Given the description of an element on the screen output the (x, y) to click on. 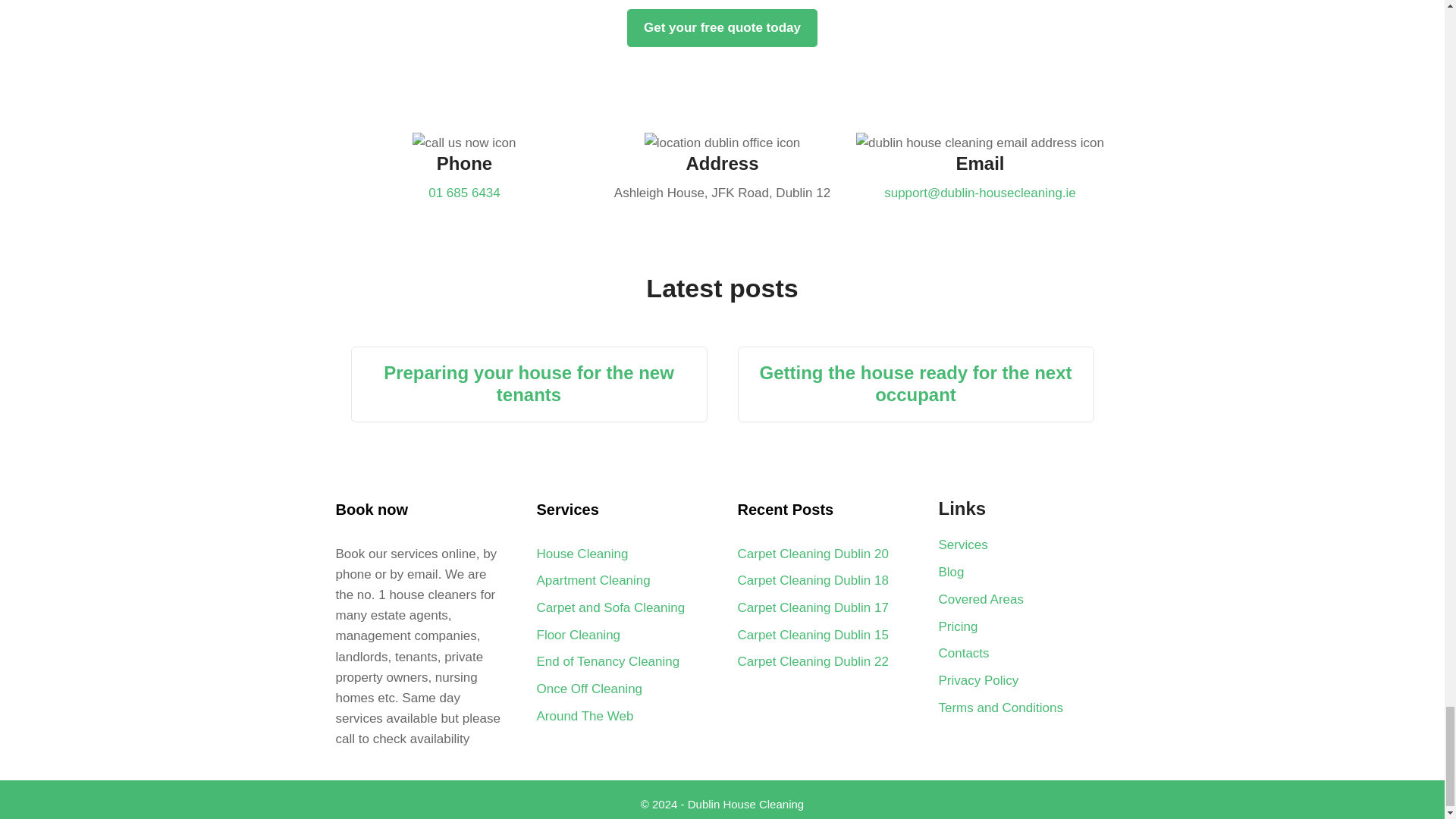
Get your free quote today (722, 27)
Get your free quote today (722, 27)
Preparing Your House For The New Tenants (529, 383)
Getting The House Ready For The Next Occupant (914, 383)
01 685 6434 (464, 192)
